Given the description of an element on the screen output the (x, y) to click on. 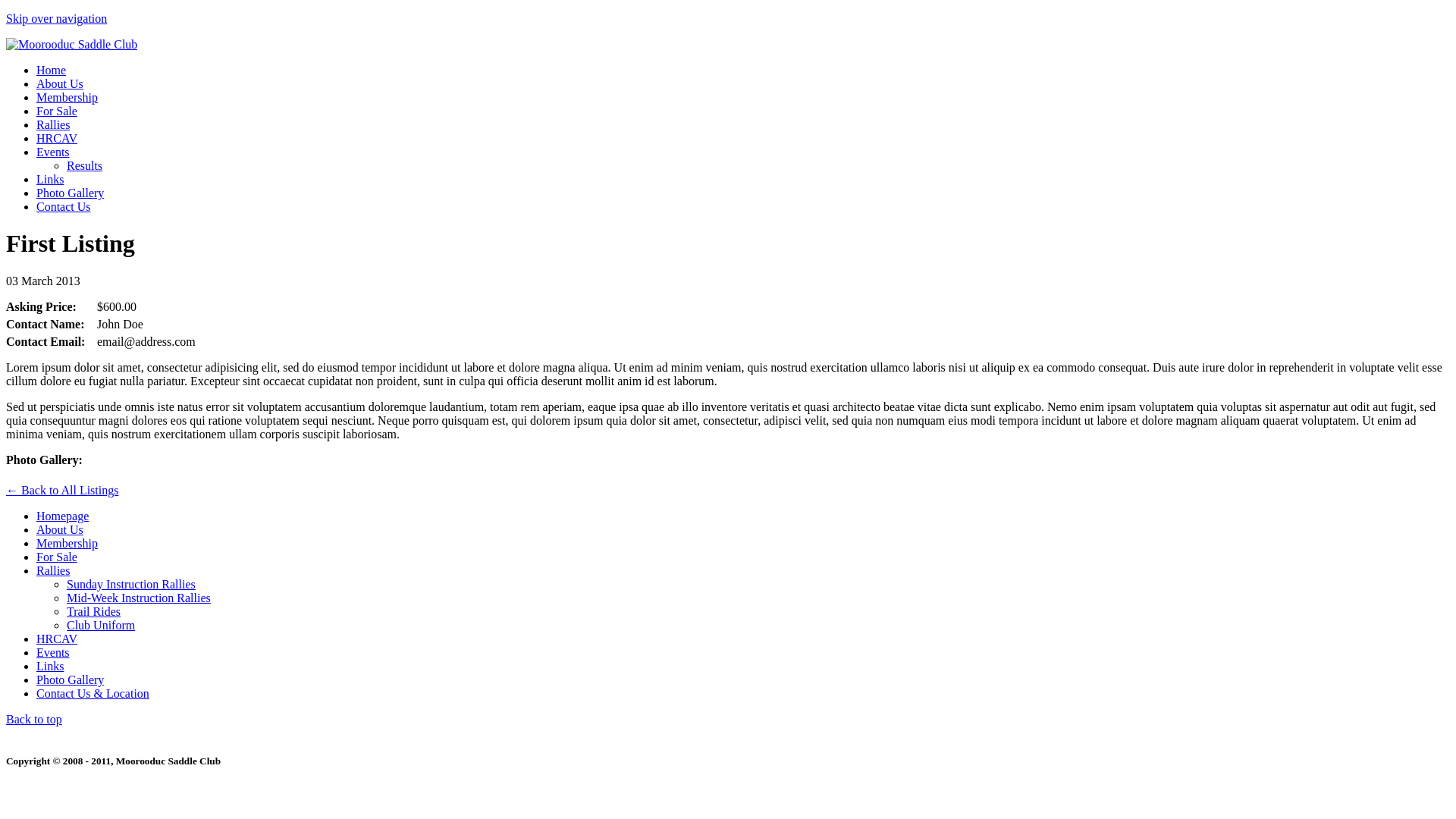
About Us Element type: text (59, 83)
For Sale Element type: text (56, 556)
Mid-Week Instruction Rallies Element type: text (138, 597)
Membership Element type: text (66, 542)
Rallies Element type: text (52, 570)
For Sale Element type: text (56, 110)
Skip over navigation Element type: text (56, 18)
HRCAV Element type: text (56, 638)
Contact Us & Location Element type: text (92, 693)
Photo Gallery Element type: text (69, 192)
HRCAV Element type: text (56, 137)
Rallies Element type: text (52, 124)
Links Element type: text (49, 665)
Back to top Element type: text (34, 718)
Sunday Instruction Rallies Element type: text (130, 583)
Home Element type: text (50, 69)
Events Element type: text (52, 652)
Events Element type: text (52, 151)
Club Uniform Element type: text (100, 624)
Results Element type: text (84, 165)
Homepage Element type: text (62, 515)
Photo Gallery Element type: text (69, 679)
About Us Element type: text (59, 529)
Links Element type: text (49, 178)
Trail Rides Element type: text (93, 611)
Contact Us Element type: text (63, 206)
Membership Element type: text (66, 97)
